Given the description of an element on the screen output the (x, y) to click on. 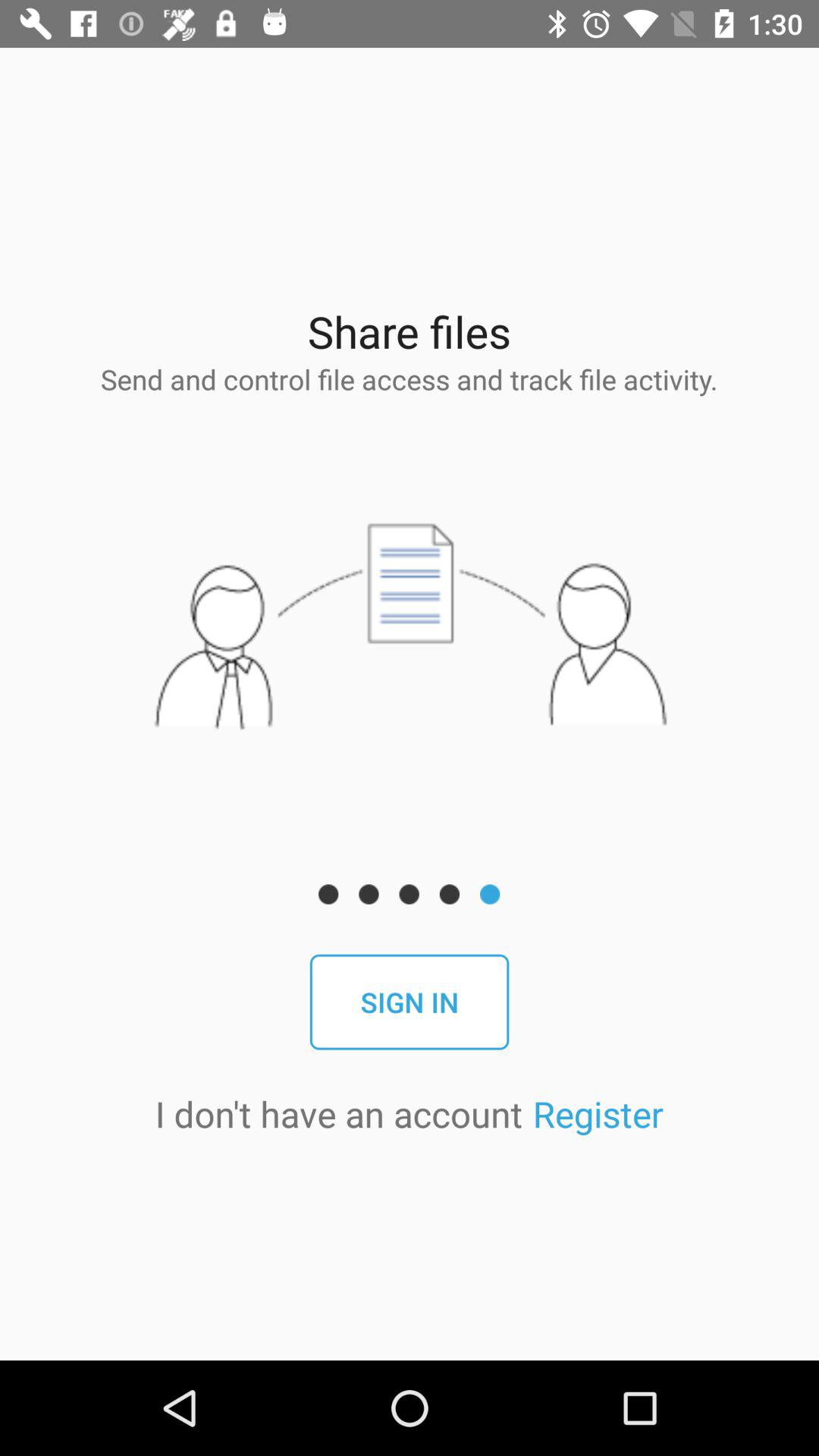
jump until the register item (597, 1113)
